Given the description of an element on the screen output the (x, y) to click on. 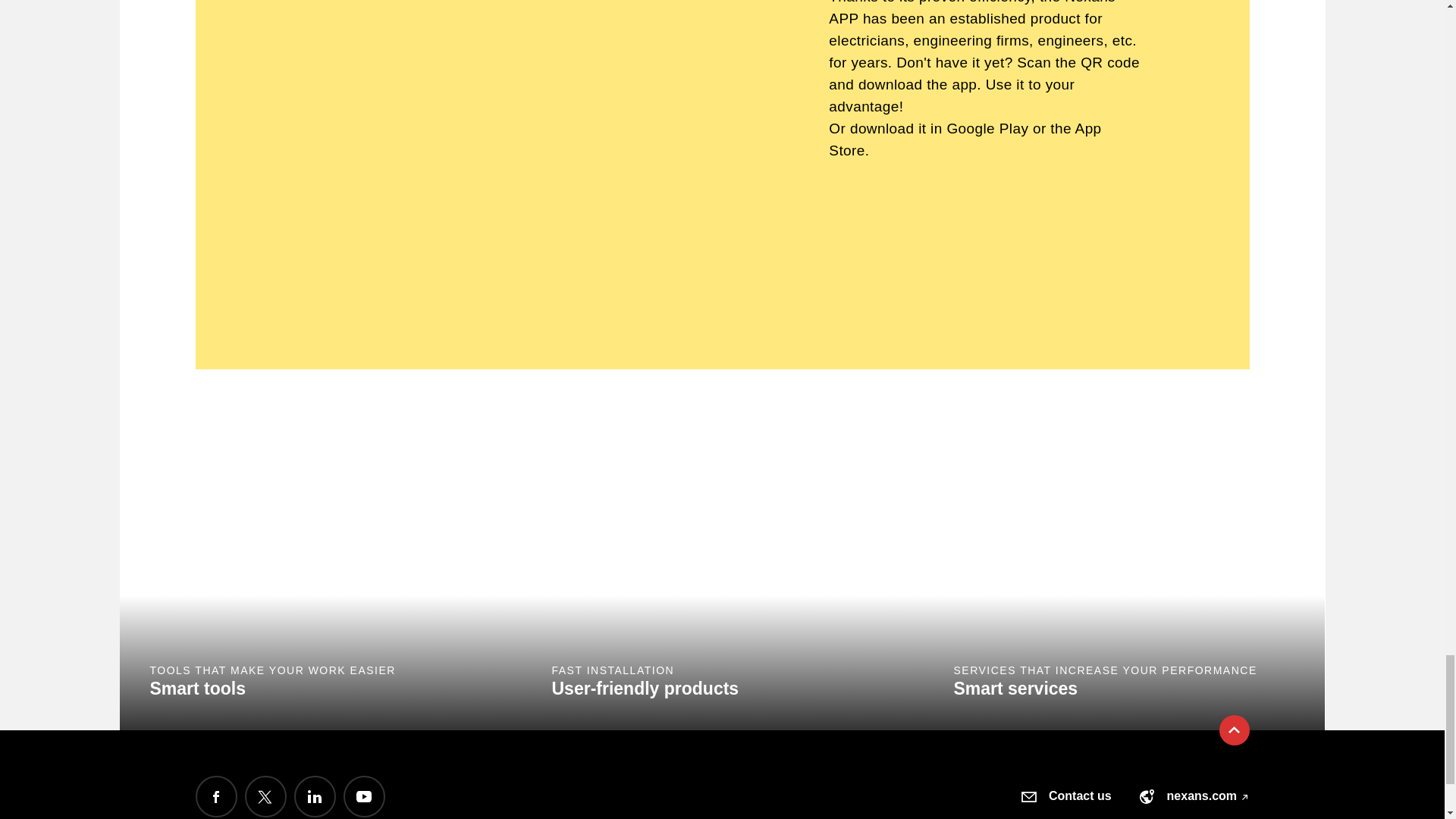
Back to top (1234, 729)
www.nexans.com (1146, 796)
Contact us (1029, 796)
